Given the description of an element on the screen output the (x, y) to click on. 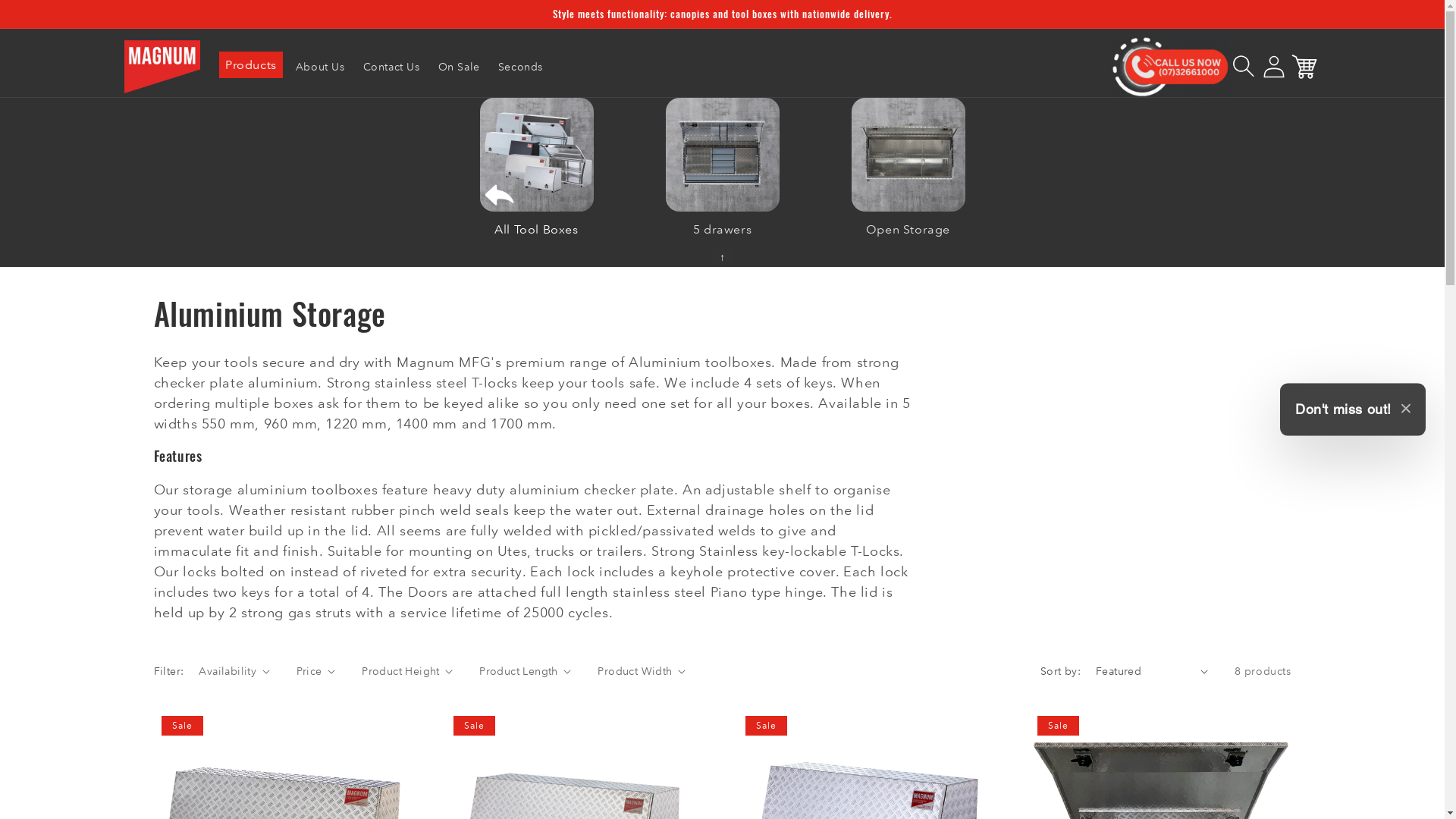
Cart Element type: text (1303, 66)
About Us Element type: text (320, 66)
Seconds Element type: text (520, 66)
Log in Element type: text (1272, 66)
All Tool Boxes Element type: text (536, 220)
On Sale Element type: text (459, 66)
Products Element type: text (250, 64)
Contact Us Element type: text (391, 66)
